Given the description of an element on the screen output the (x, y) to click on. 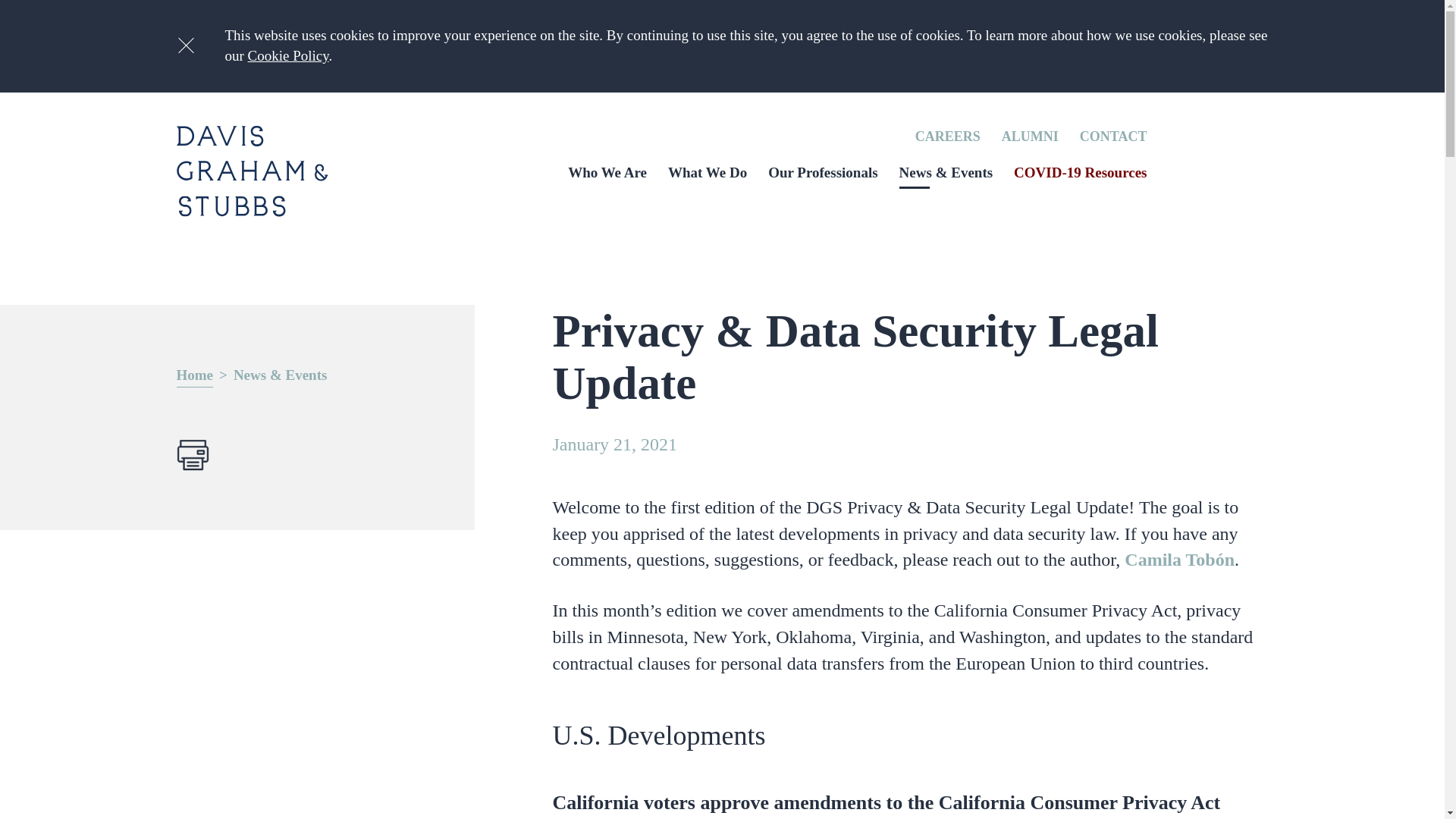
Cookie Policy (288, 55)
Home (194, 376)
Our Professionals (822, 172)
COVID-19 Resources (1080, 172)
CONTACT (1113, 136)
CAREERS (947, 136)
What We Do (707, 172)
Who We Are (606, 172)
ALUMNI (1029, 136)
